Given the description of an element on the screen output the (x, y) to click on. 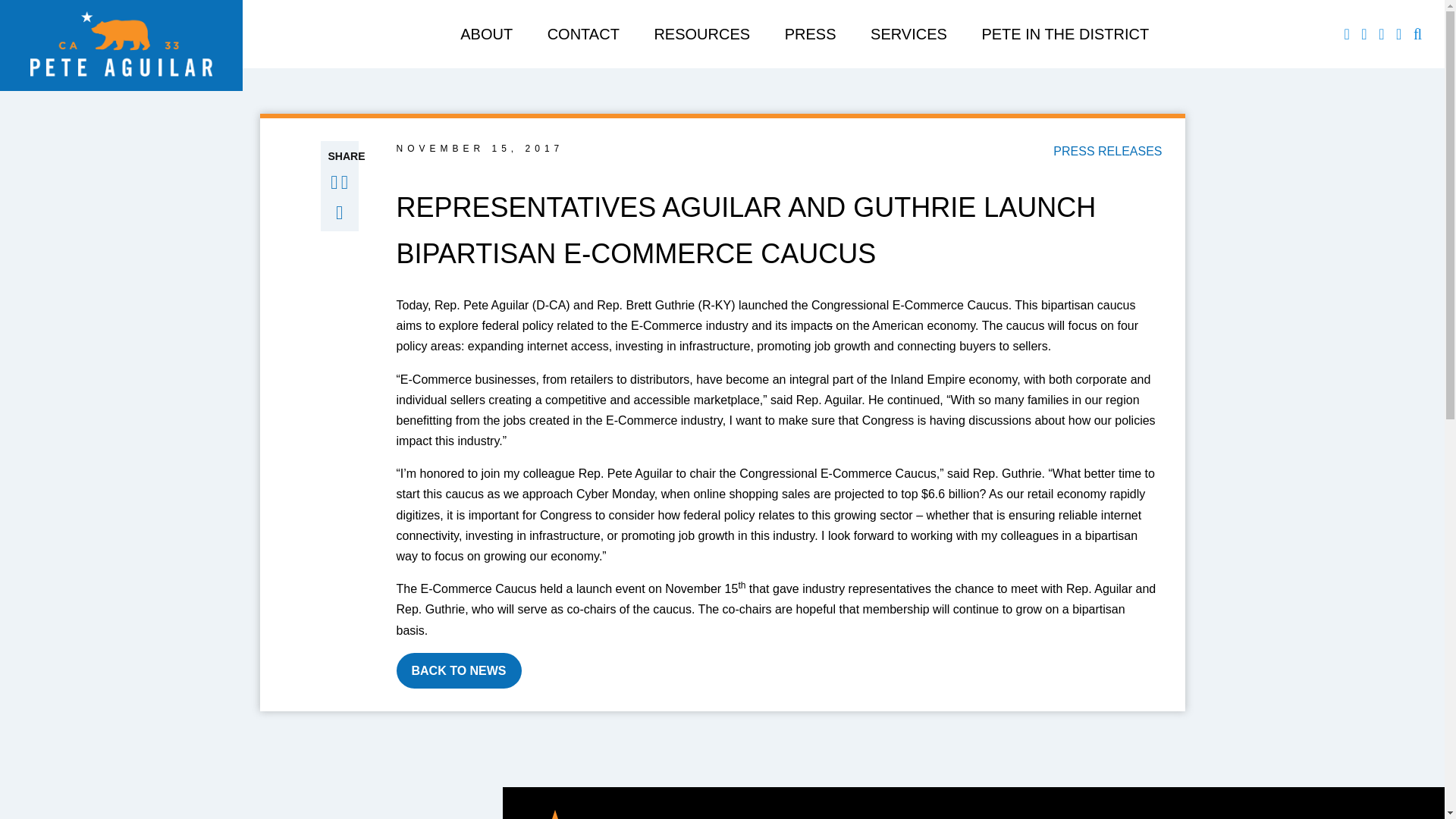
ABOUT (486, 33)
PRESS (809, 33)
CONTACT (583, 33)
PETE IN THE DISTRICT (1064, 33)
SERVICES (908, 33)
RESOURCES (701, 33)
